Given the description of an element on the screen output the (x, y) to click on. 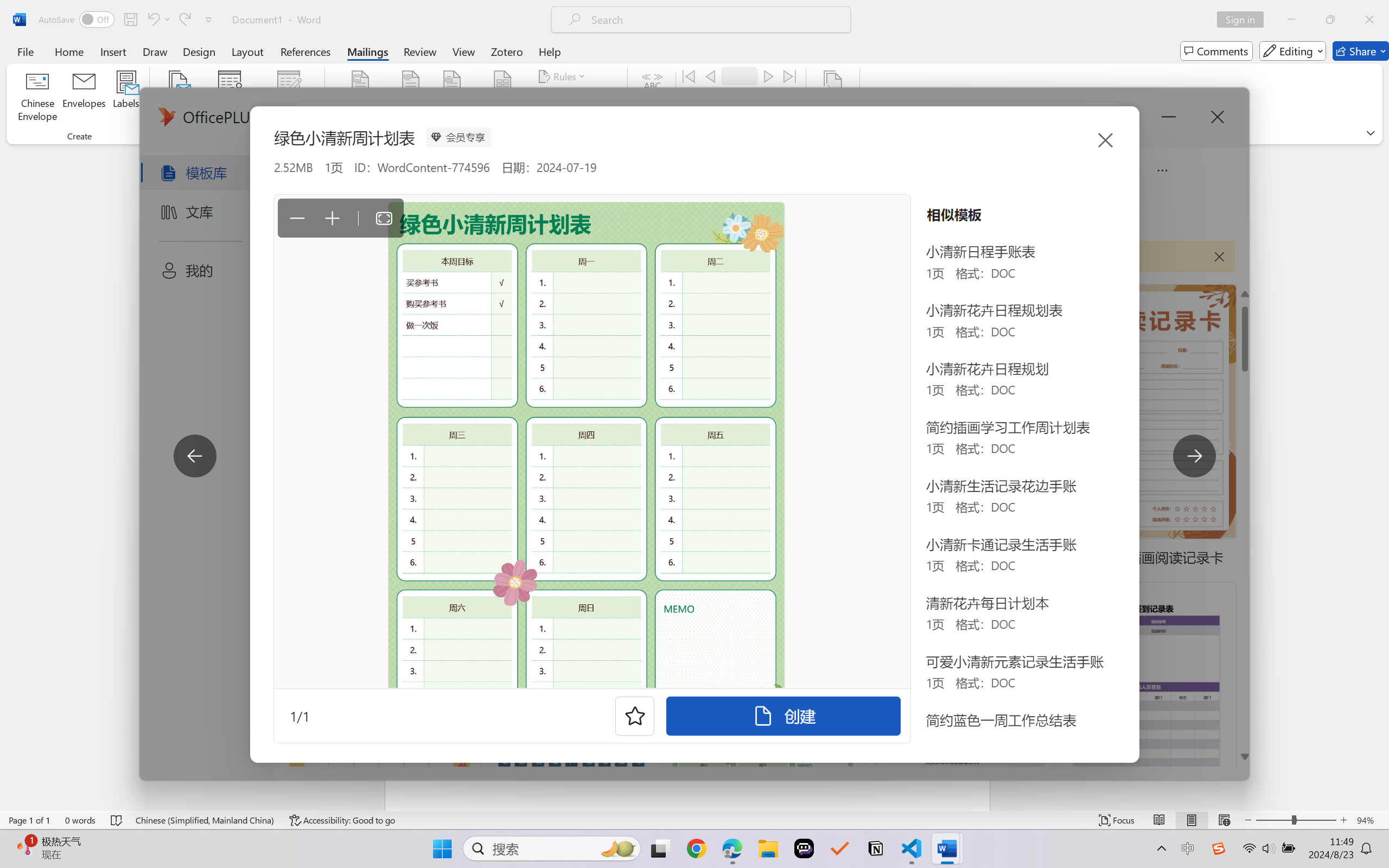
Rules (563, 75)
Last (790, 75)
Envelopes... (84, 97)
Redo Apply Quick Style (184, 19)
Undo Apply Quick Style Set (158, 19)
First (688, 75)
